Given the description of an element on the screen output the (x, y) to click on. 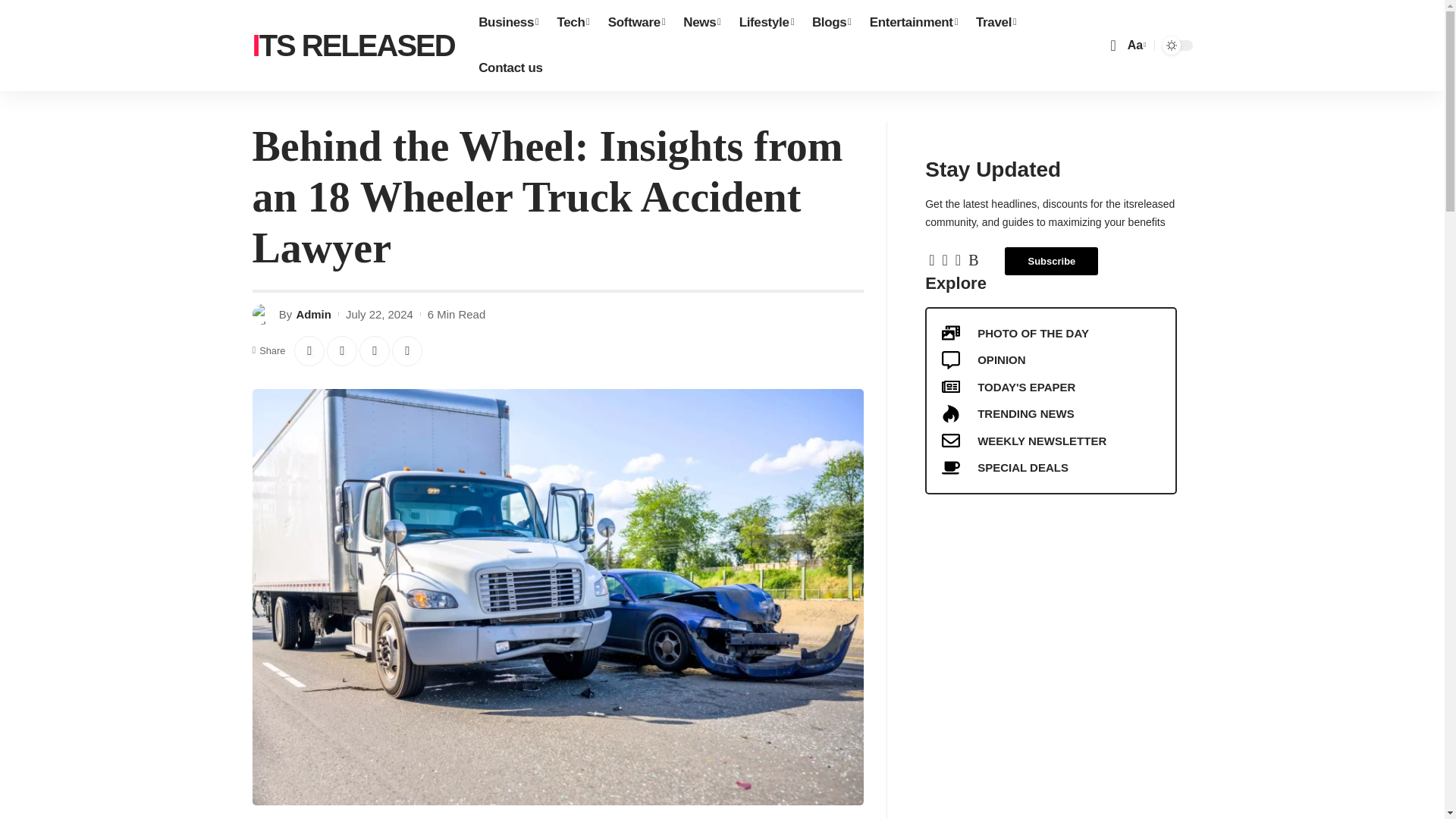
Business (507, 22)
Its Released (352, 45)
ITS RELEASED (352, 45)
Tech (572, 22)
